Given the description of an element on the screen output the (x, y) to click on. 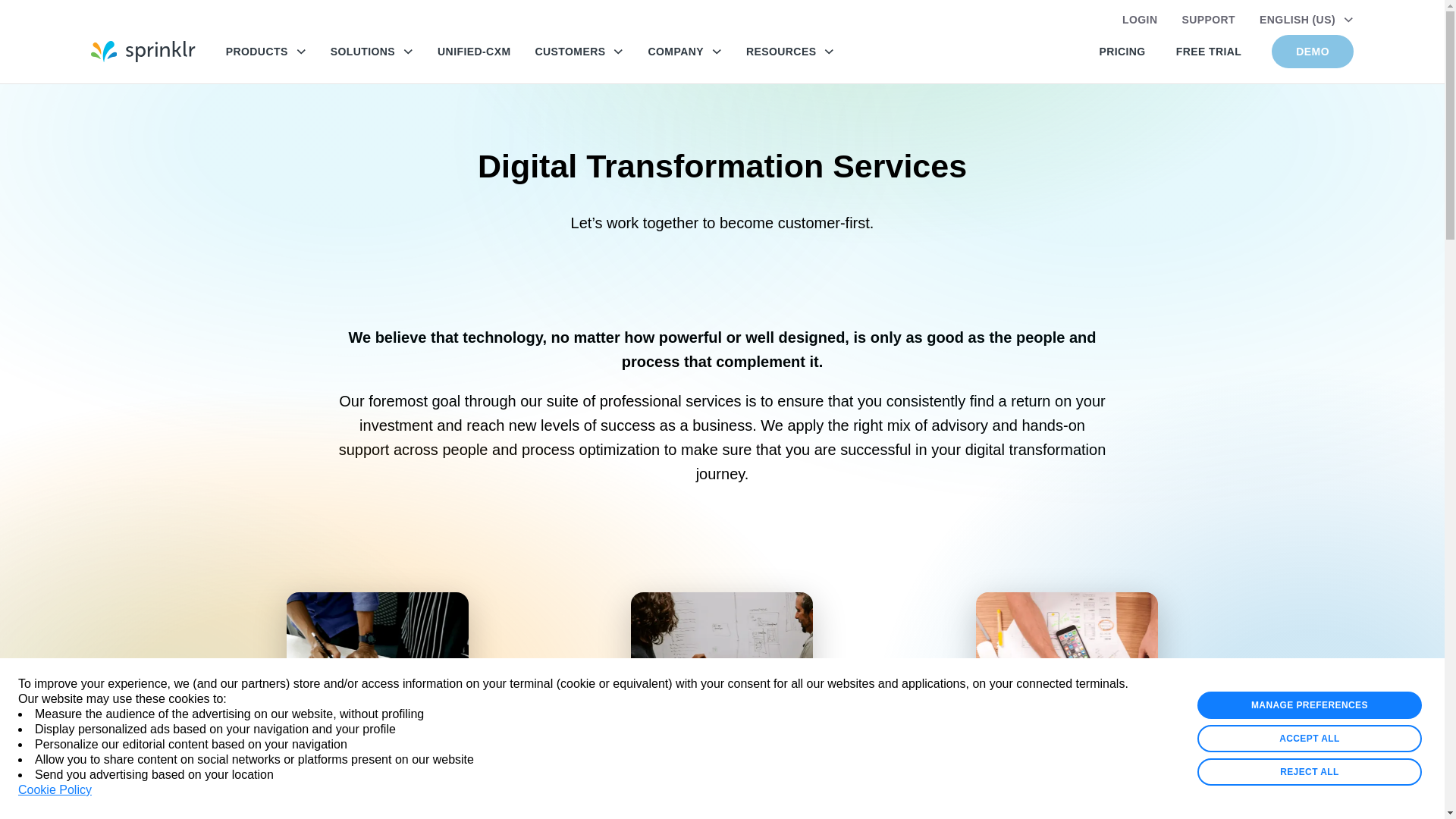
Cookie Policy (54, 789)
MANAGE PREFERENCES (1309, 705)
SUPPORT (1207, 19)
REJECT ALL (1309, 771)
PRODUCTS (265, 51)
LOGIN (1139, 19)
ACCEPT ALL (1309, 738)
Sprinklr (142, 51)
